Given the description of an element on the screen output the (x, y) to click on. 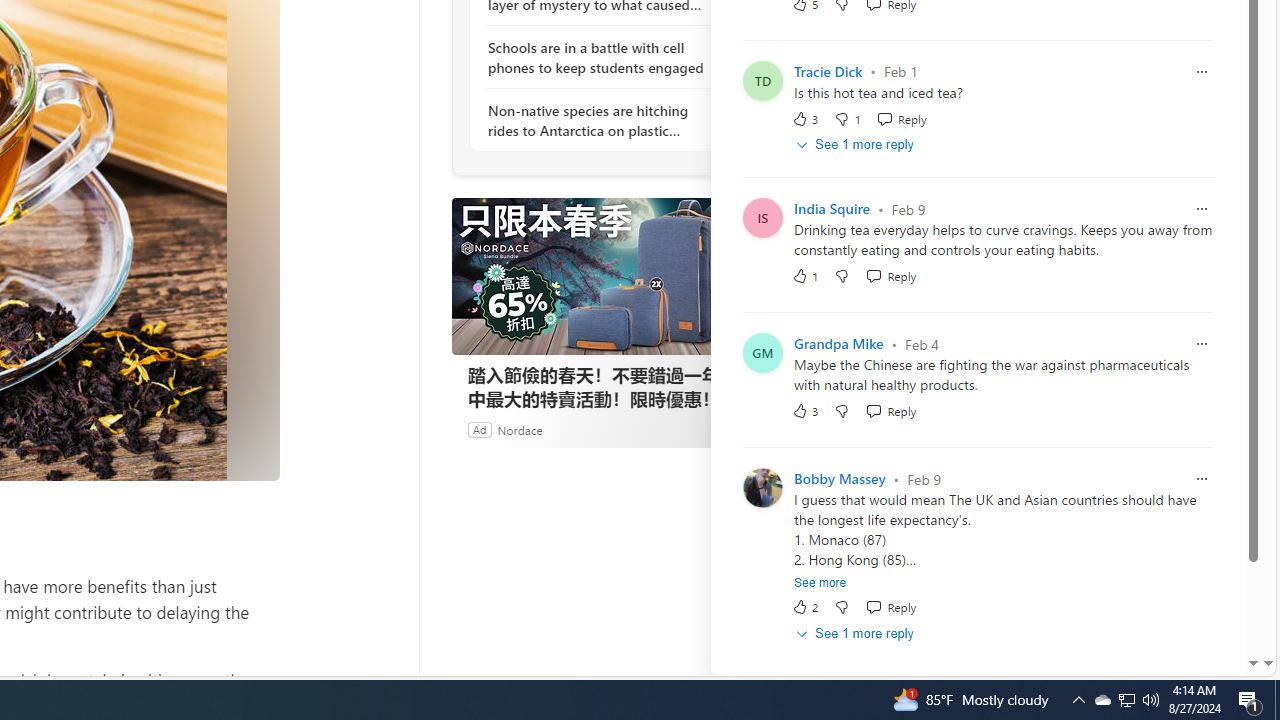
Nordace (519, 429)
See 1 more reply (855, 634)
India Squire (831, 209)
3 Like (804, 411)
See more (820, 582)
Dislike (841, 606)
Feedback (1185, 659)
Bobby Massey (839, 479)
Profile Picture (762, 488)
Report comment (1201, 479)
Grandpa Mike (838, 344)
